Given the description of an element on the screen output the (x, y) to click on. 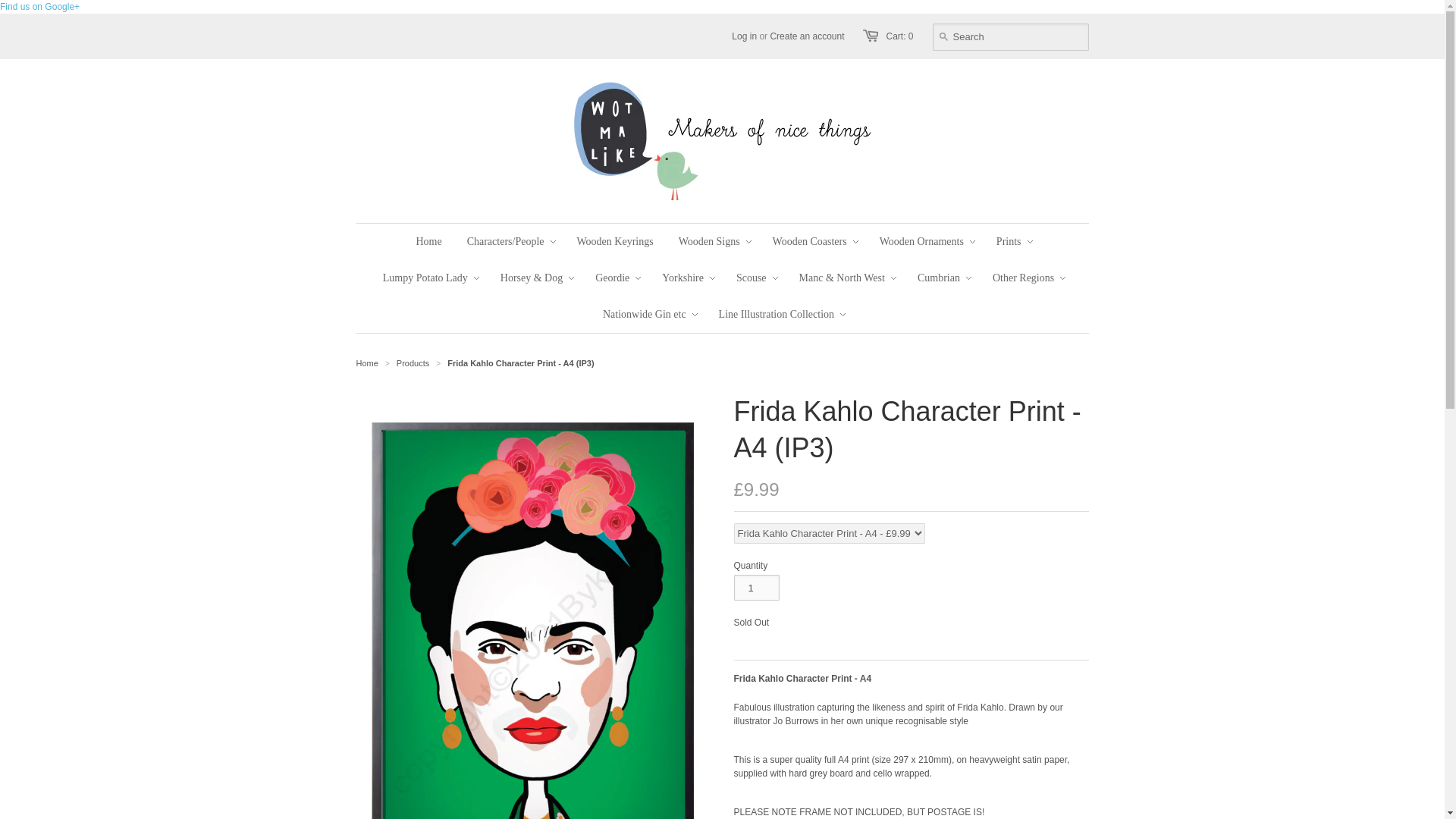
Wooden Keyrings (615, 241)
Shopping Cart (898, 36)
Log in (744, 36)
Create an account (807, 36)
Wooden Coasters (810, 241)
Wooden Ornaments (921, 241)
All Products (413, 362)
Cart: 0 (898, 36)
Wooden Signs (708, 241)
Home (428, 241)
1 (755, 587)
Wot Ma Like  (367, 362)
Prints (1008, 241)
